Given the description of an element on the screen output the (x, y) to click on. 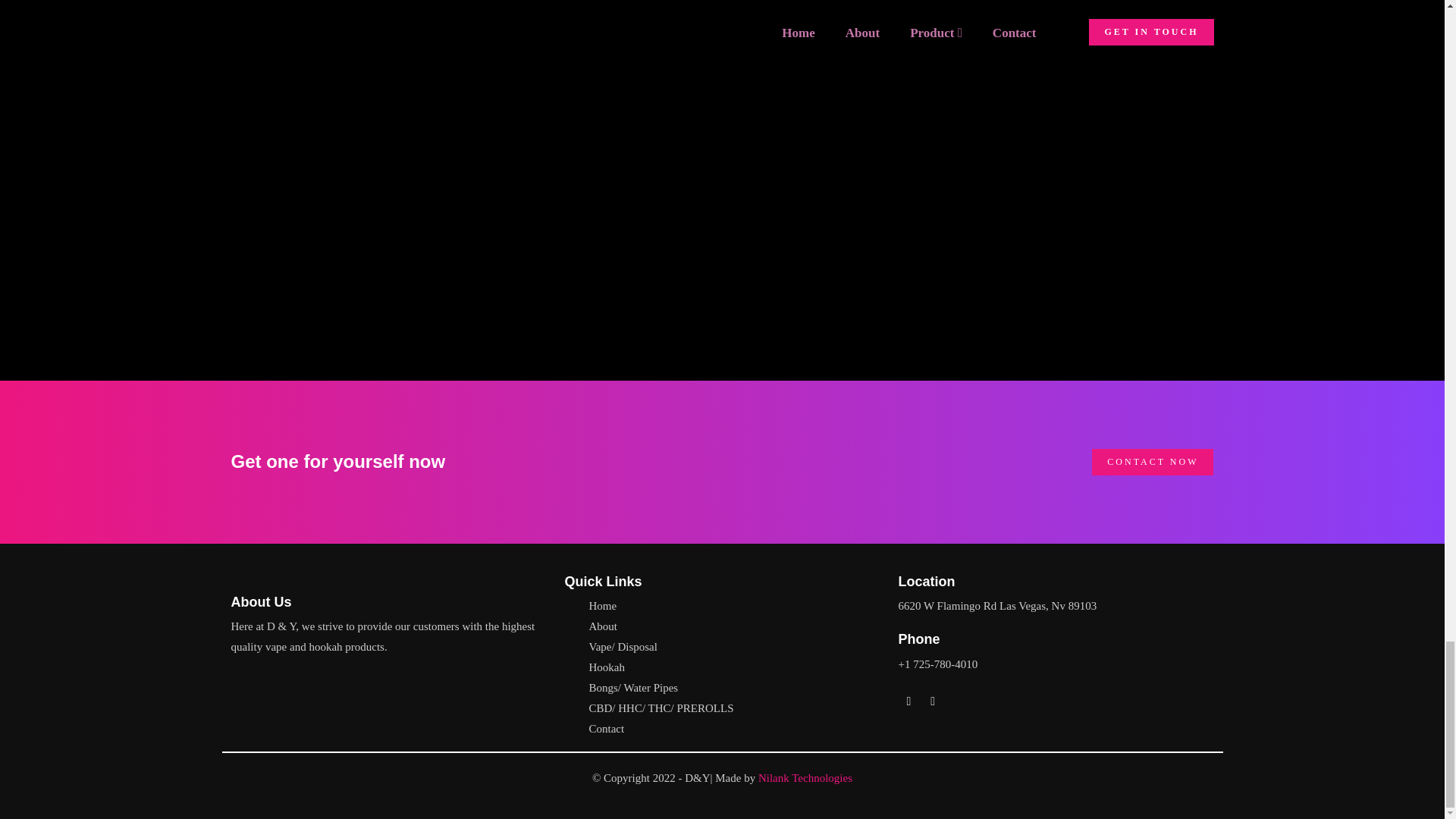
Home (601, 605)
CONTACT NOW (1152, 461)
CONTACT NOW (1152, 461)
Submit Now (722, 283)
About (602, 625)
Hookah (606, 666)
Contact (606, 728)
